Given the description of an element on the screen output the (x, y) to click on. 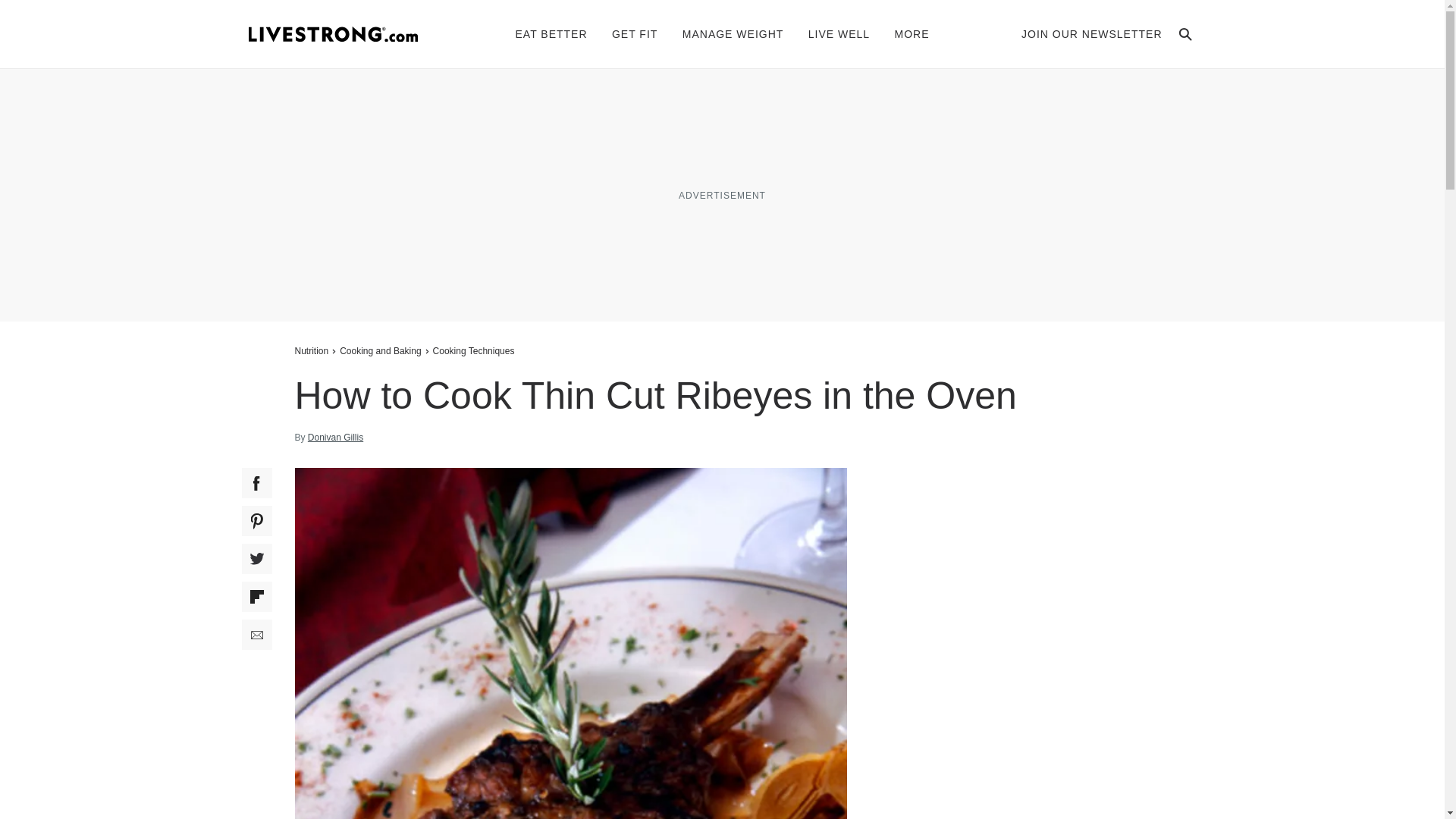
MANAGE WEIGHT (733, 33)
Donivan Gillis (334, 437)
Cooking Techniques (473, 350)
Cooking and Baking (380, 350)
EAT BETTER (551, 33)
GET FIT (634, 33)
JOIN OUR NEWSLETTER (1091, 33)
LIVE WELL (838, 33)
Nutrition (312, 350)
